Given the description of an element on the screen output the (x, y) to click on. 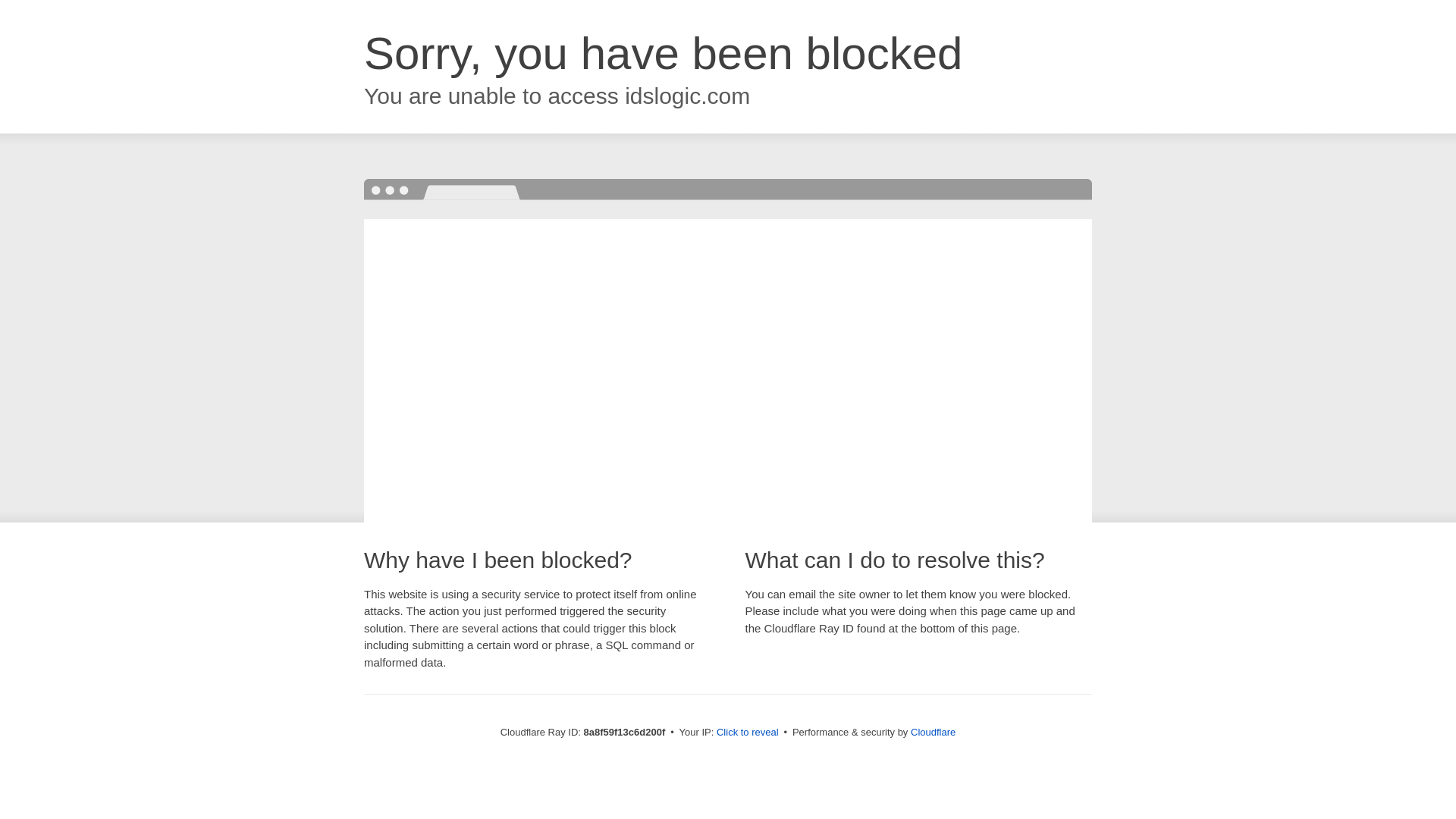
Cloudflare (933, 731)
Click to reveal (747, 732)
